Given the description of an element on the screen output the (x, y) to click on. 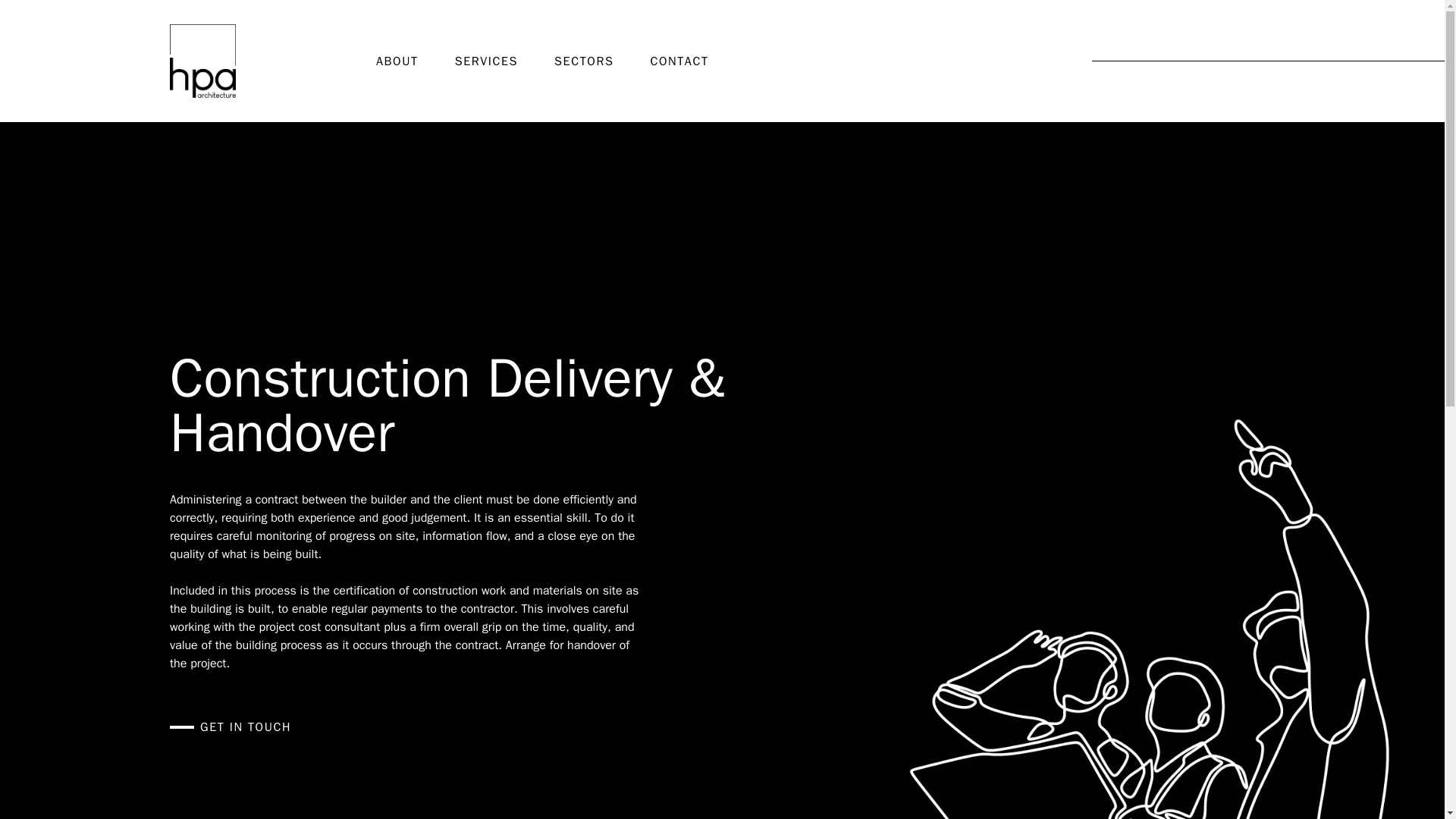
CONTACT (678, 60)
ABOUT (397, 60)
GET IN TOUCH (230, 727)
SERVICES (486, 60)
SECTORS (583, 60)
